Given the description of an element on the screen output the (x, y) to click on. 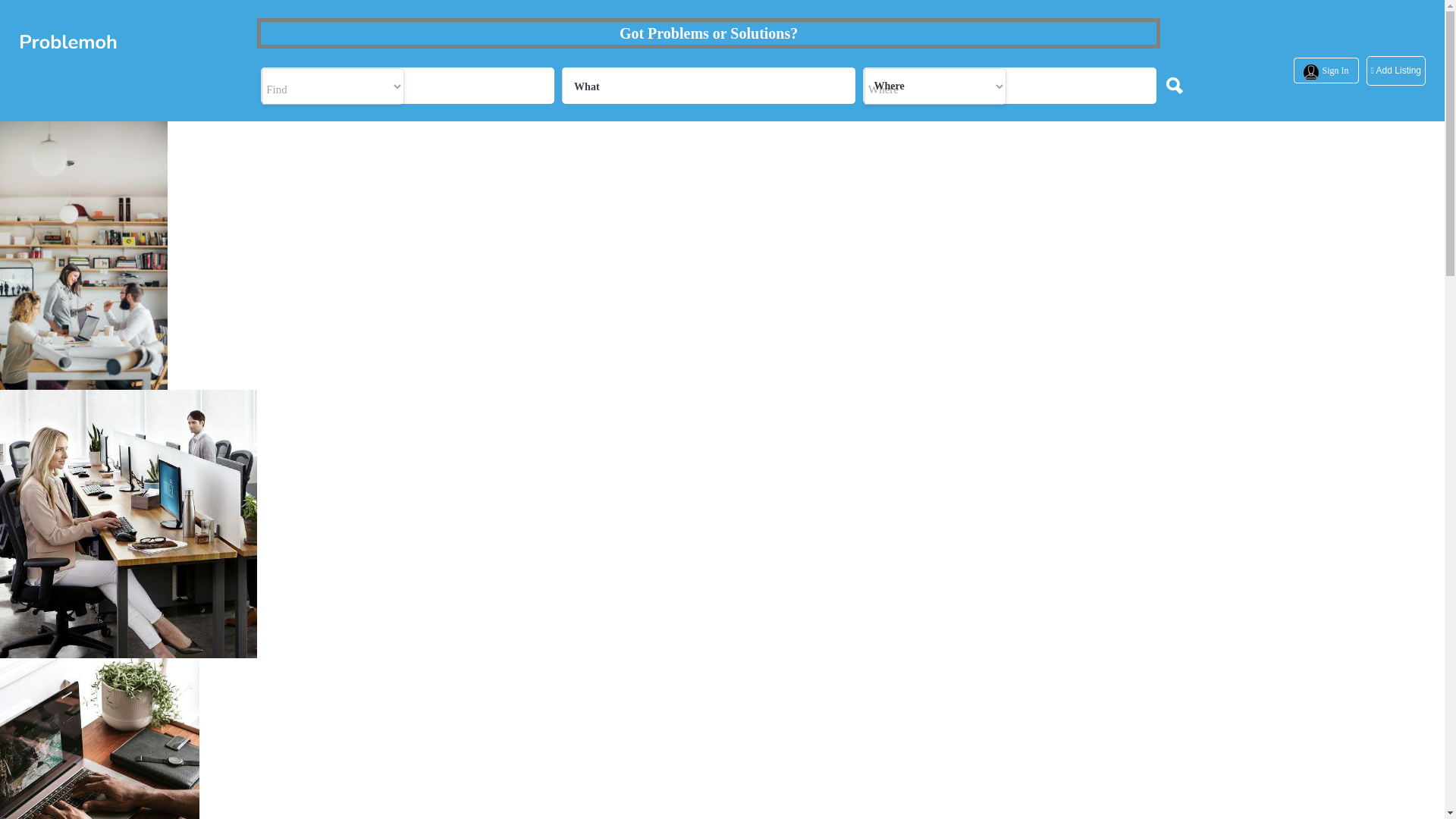
Submit (413, 502)
Got Problems or Solutions? (708, 33)
Add Listing (1396, 70)
Sign In (1335, 70)
